Given the description of an element on the screen output the (x, y) to click on. 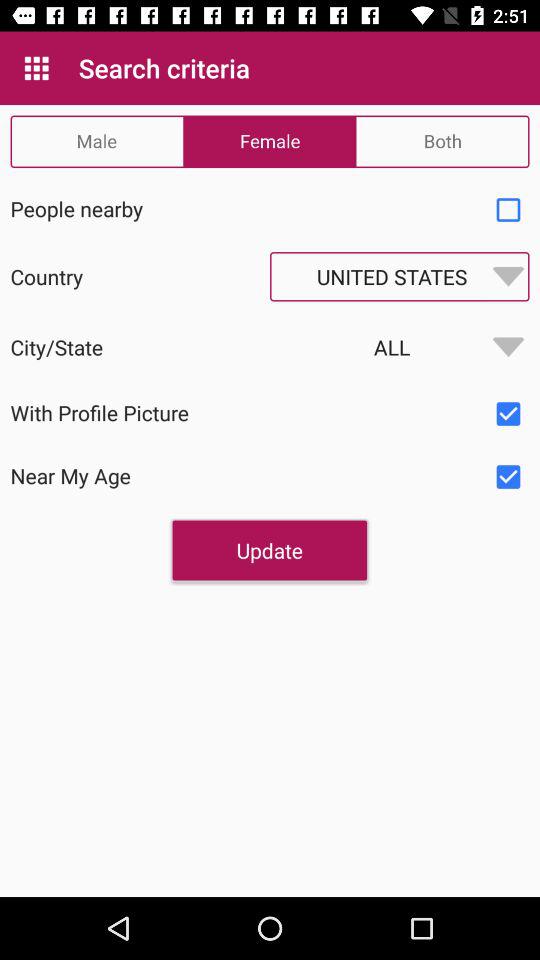
jump to update item (269, 549)
